Given the description of an element on the screen output the (x, y) to click on. 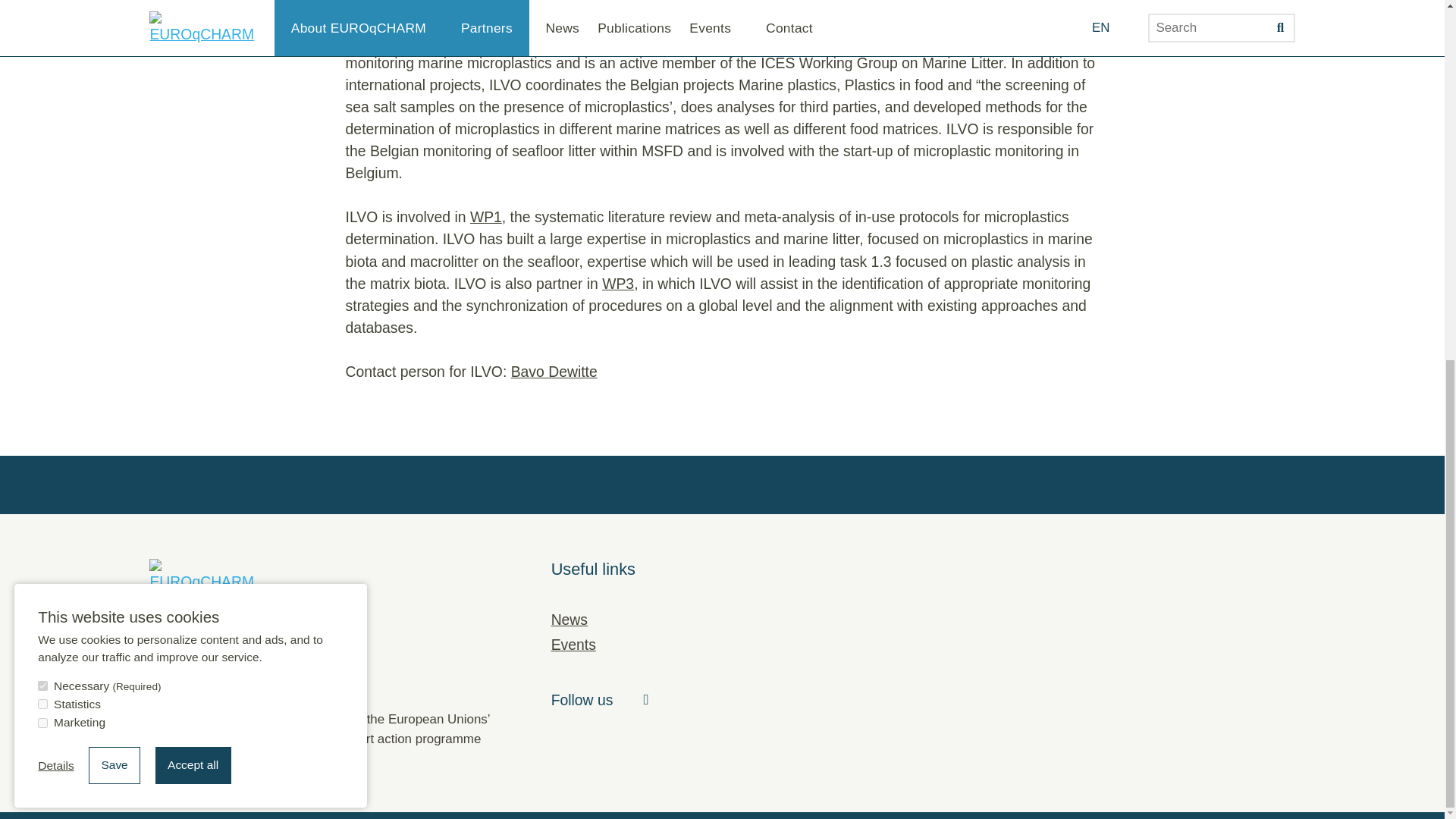
on (42, 66)
on (42, 48)
Bavo Dewitte (553, 371)
on (42, 85)
WP3 (617, 283)
WP1 (486, 216)
